Given the description of an element on the screen output the (x, y) to click on. 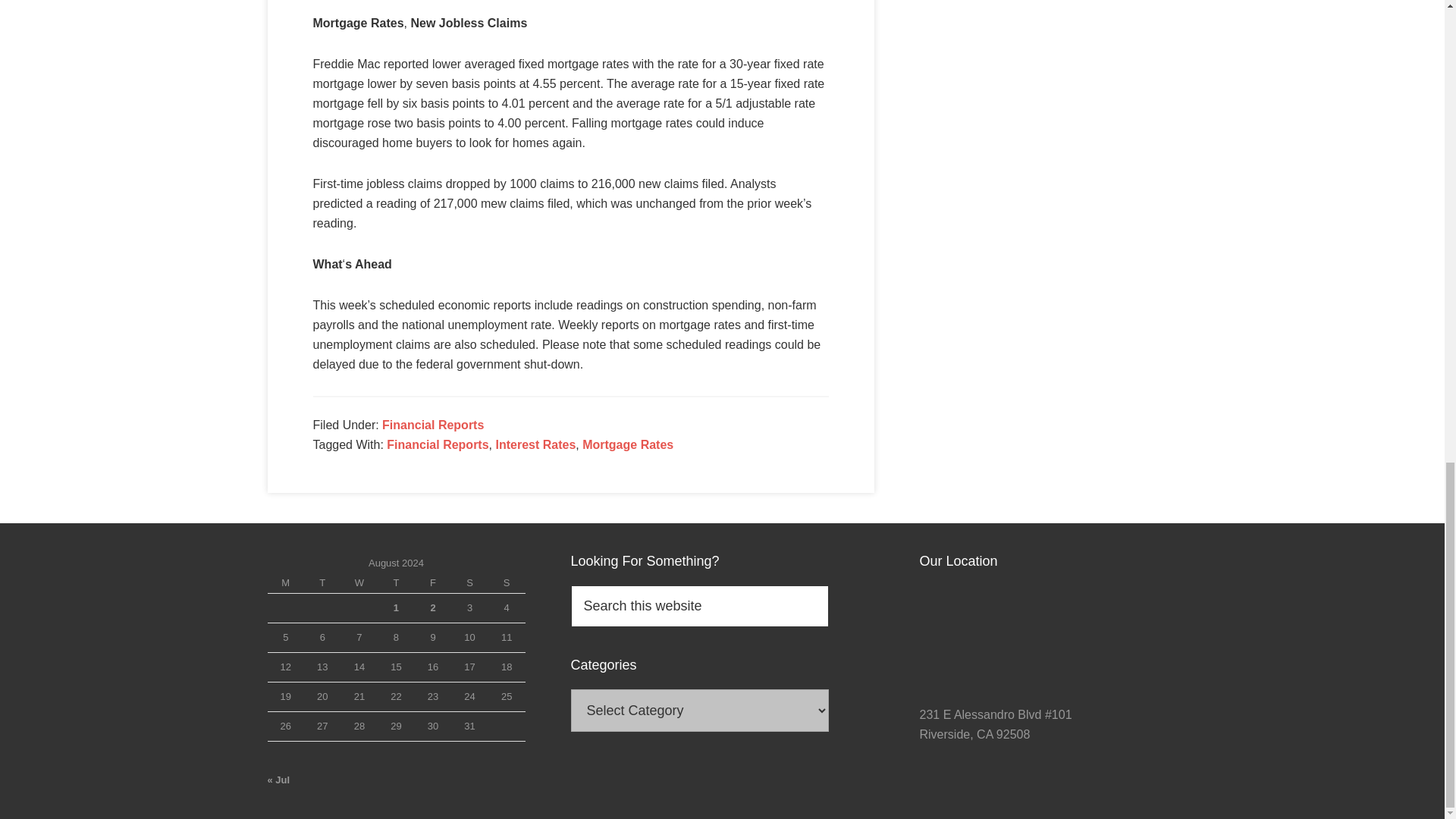
Tuesday (322, 583)
Monday (285, 583)
Wednesday (359, 583)
Friday (432, 583)
Thursday (395, 583)
Financial Reports (432, 424)
Financial Reports (437, 444)
Interest Rates (535, 444)
Saturday (469, 583)
Sunday (506, 583)
Mortgage Rates (627, 444)
